Given the description of an element on the screen output the (x, y) to click on. 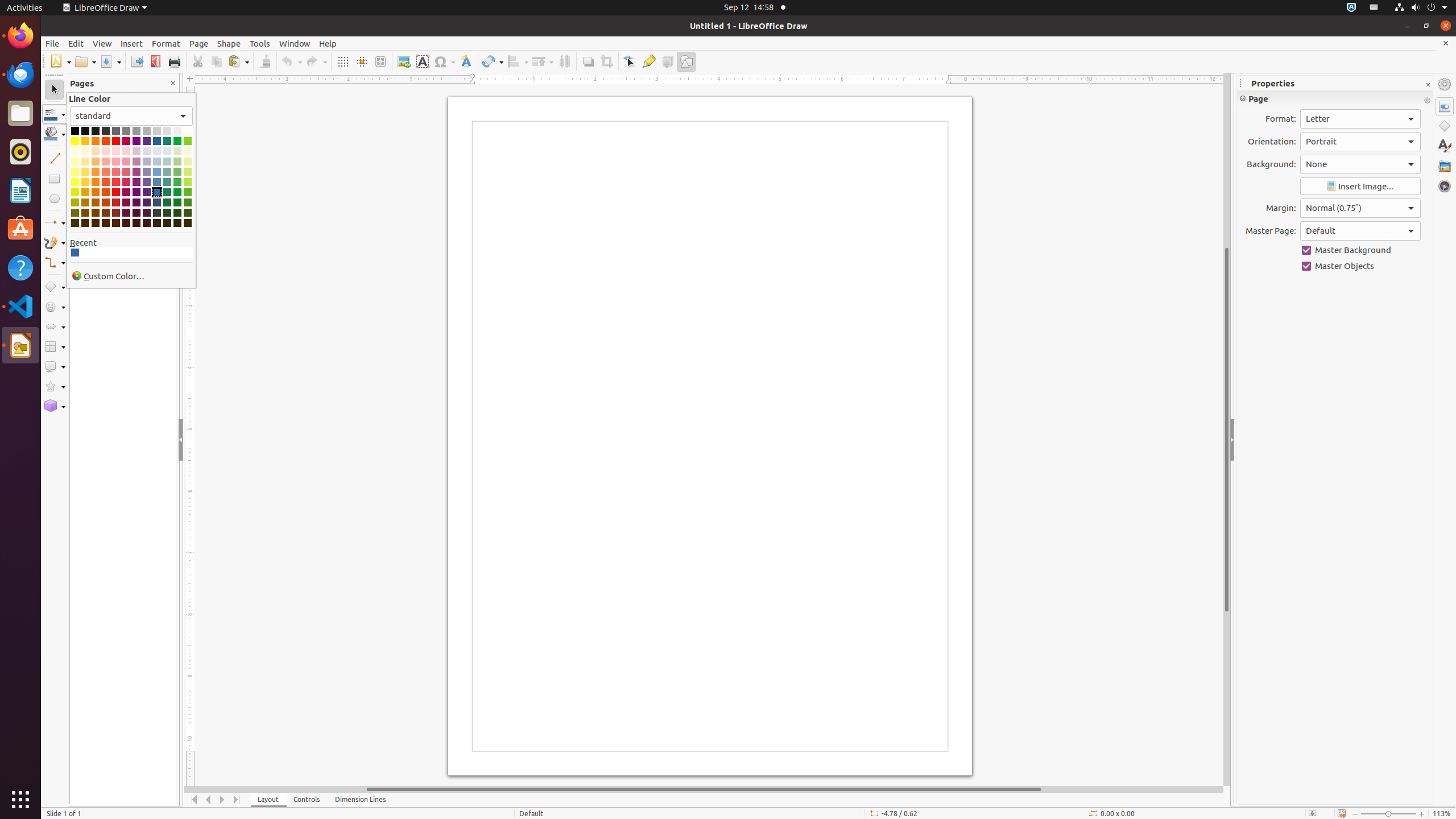
:1.72/StatusNotifierItem Element type: menu (1350, 7)
Flowchart Shapes Element type: push-button (54, 346)
Dark Green 1 Element type: list-item (177, 192)
Basic Shapes Element type: push-button (54, 286)
Dark Gray 2 Element type: list-item (105, 130)
